Given the description of an element on the screen output the (x, y) to click on. 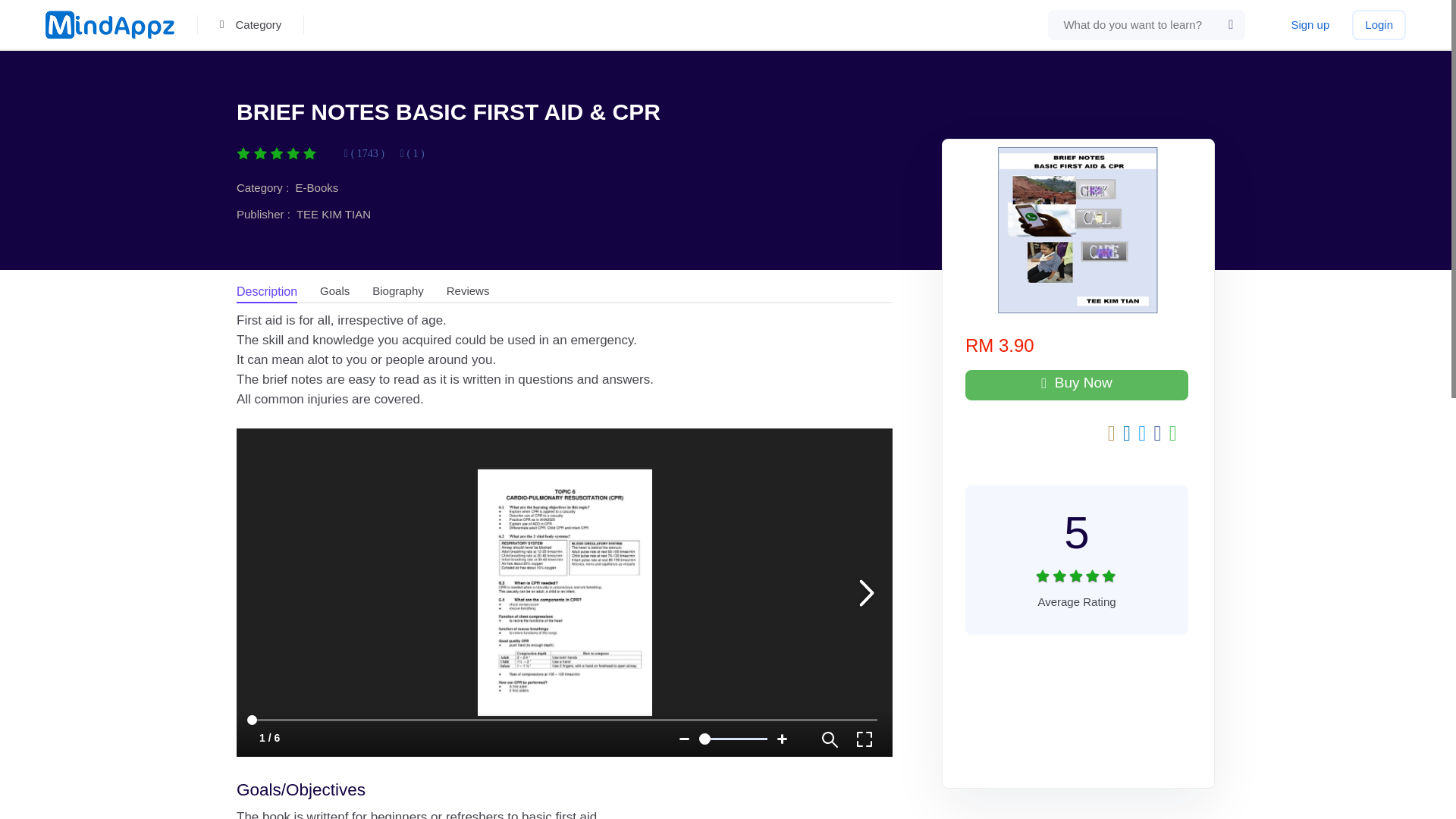
Share on LinkedIn (1126, 434)
Category (1172, 434)
Send email (1078, 547)
Total Reviews (250, 25)
Share on Facebook (1111, 434)
Tweet (412, 153)
Total Views (1157, 434)
